Given the description of an element on the screen output the (x, y) to click on. 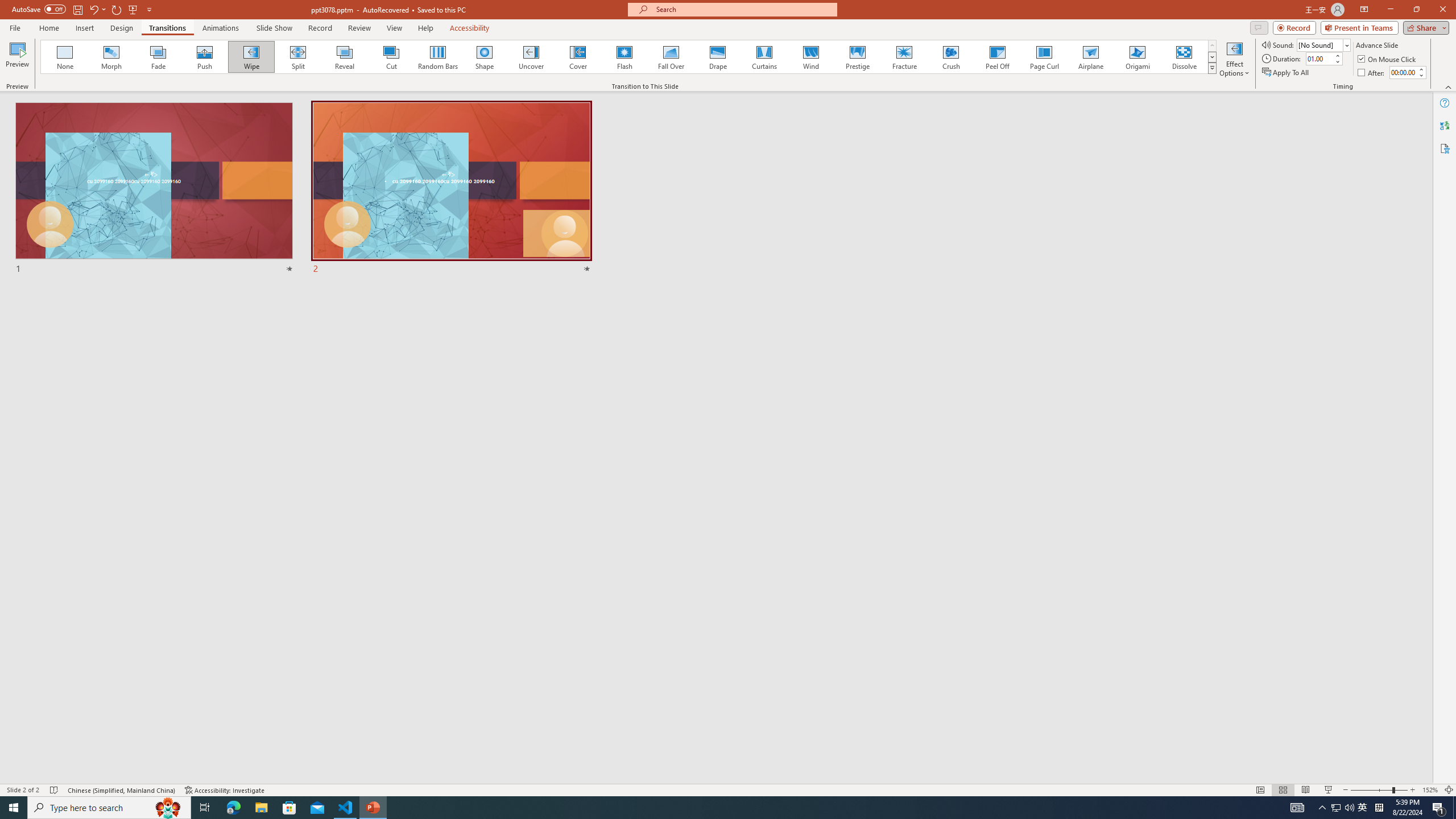
Duration (1319, 58)
Prestige (857, 56)
Crush (950, 56)
Origami (1136, 56)
Transition Effects (1212, 67)
Flash (624, 56)
